Given the description of an element on the screen output the (x, y) to click on. 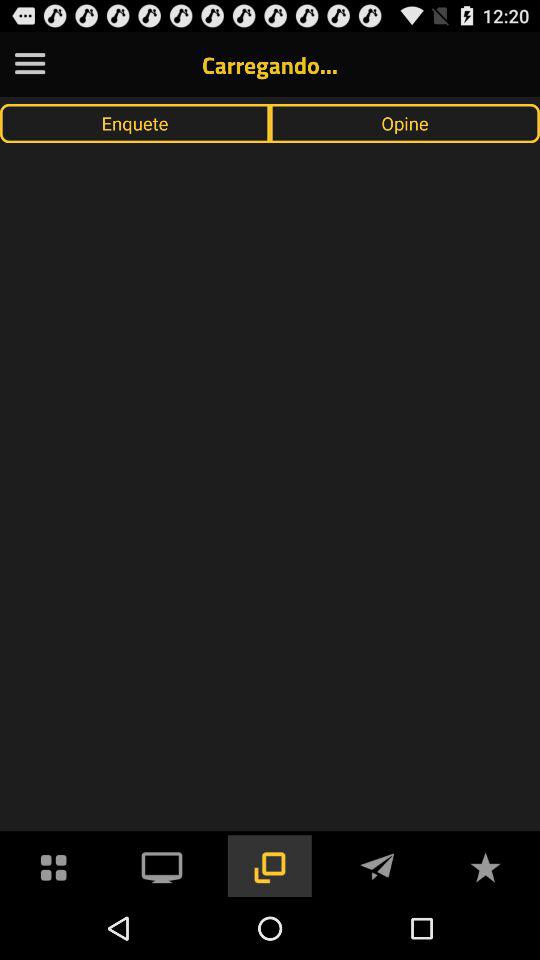
email (377, 865)
